Given the description of an element on the screen output the (x, y) to click on. 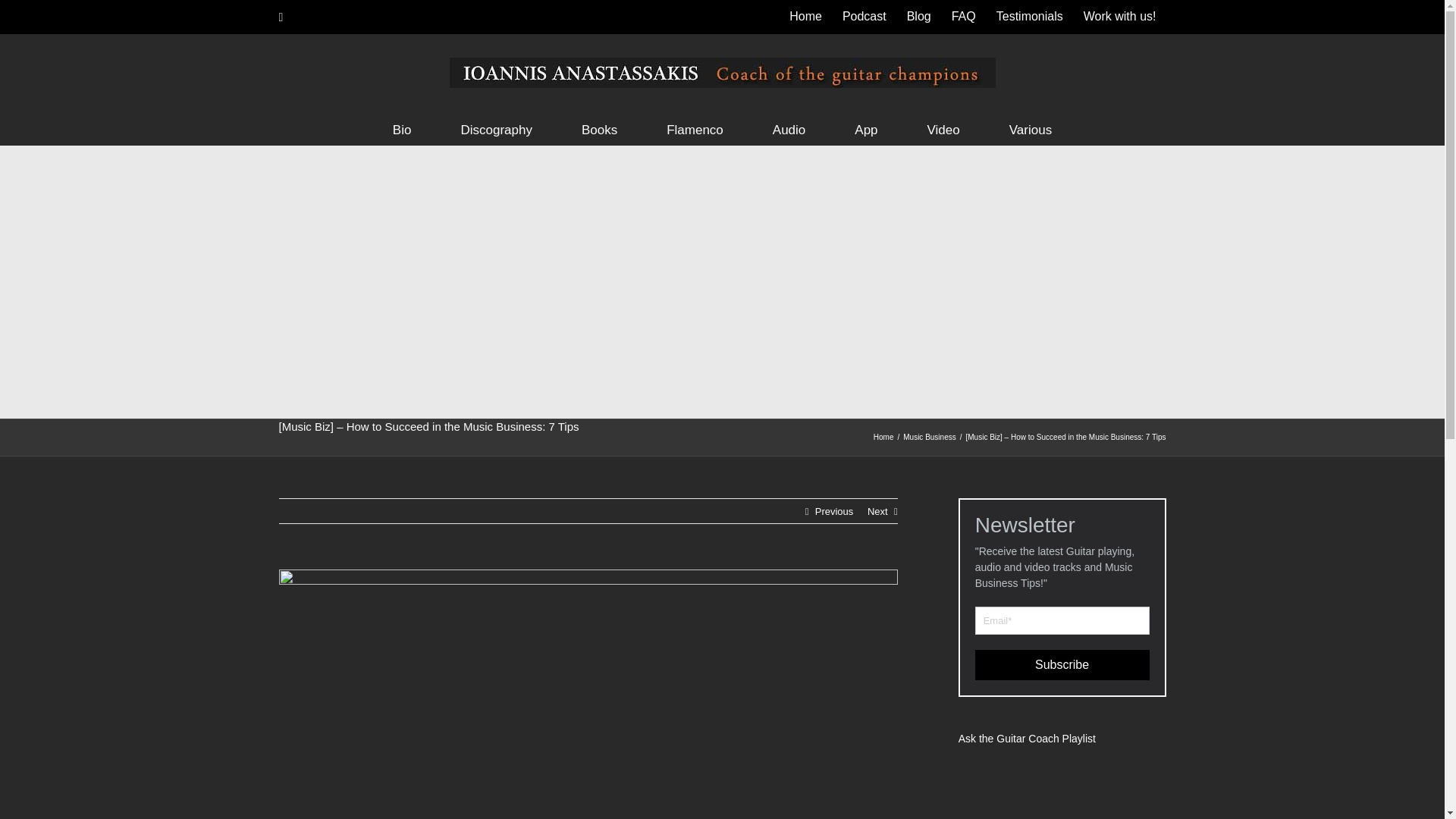
Discography (496, 128)
Work with us! (1120, 16)
Home (804, 16)
Testimonials (1030, 16)
Audio (788, 128)
Podcast (864, 16)
FAQ (963, 16)
Bio (402, 128)
Blog (918, 16)
Video (944, 128)
